Given the description of an element on the screen output the (x, y) to click on. 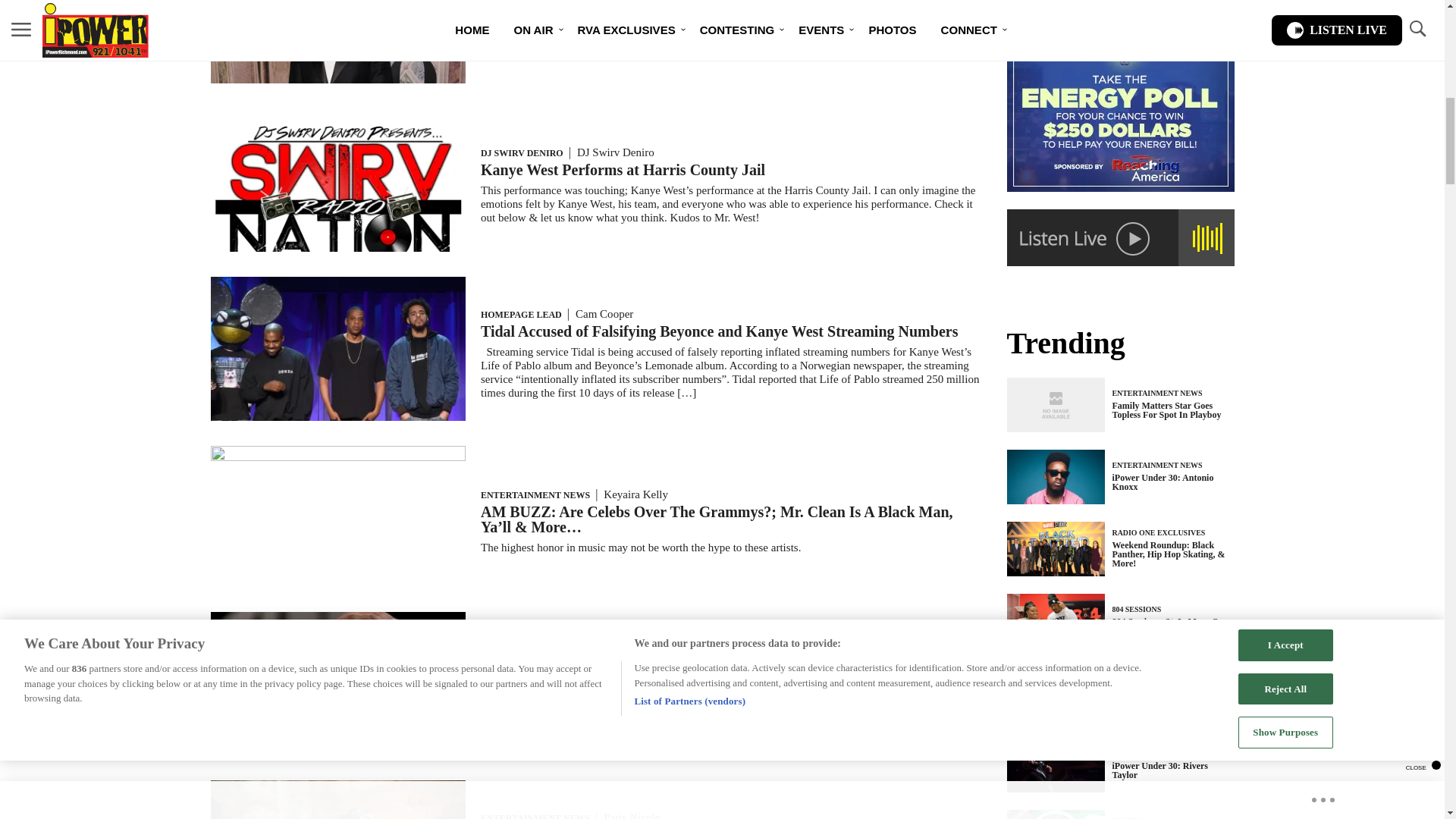
Media Playlist (1055, 814)
